Given the description of an element on the screen output the (x, y) to click on. 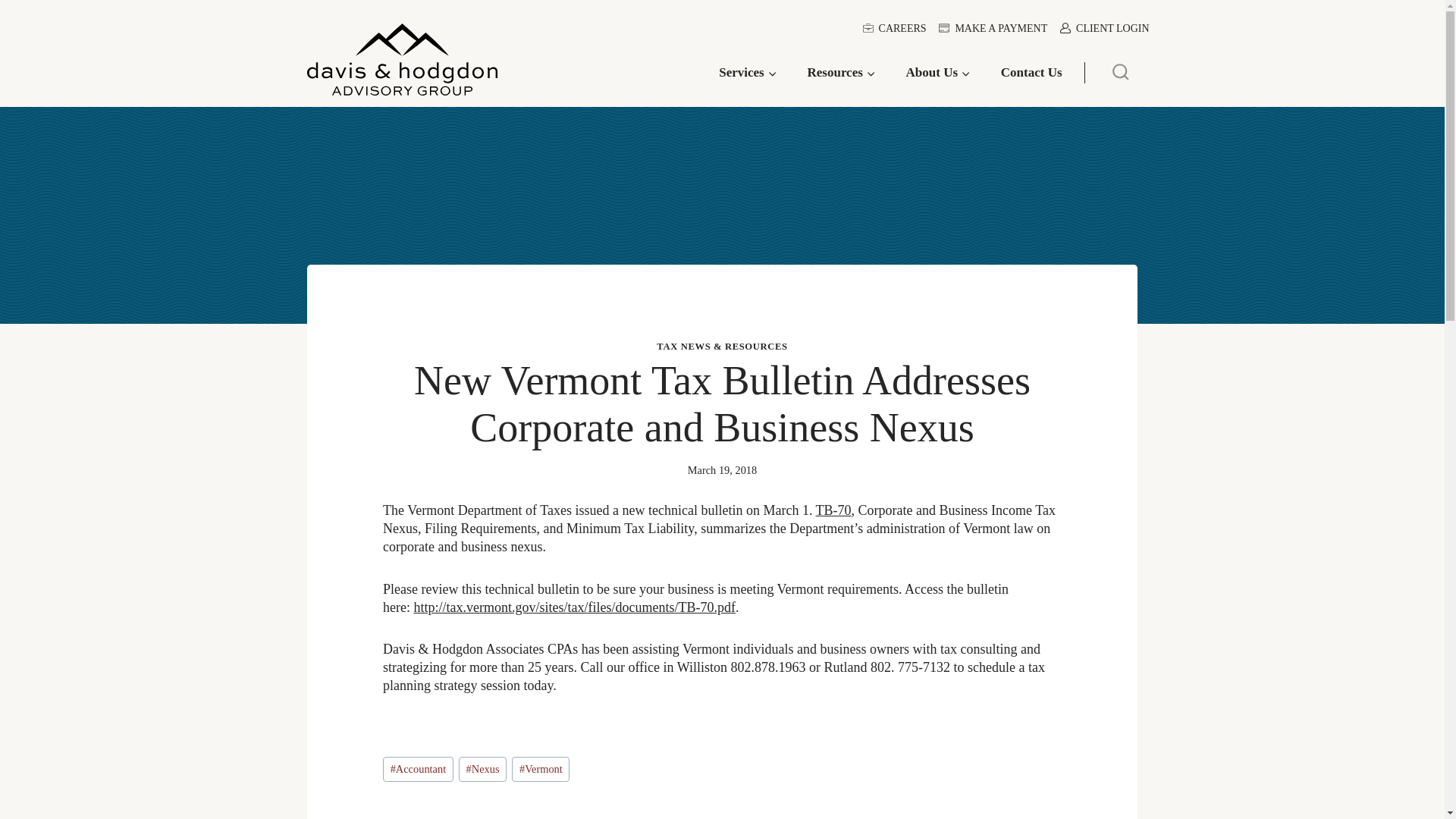
Services (747, 72)
CLIENT LOGIN (1105, 28)
MAKE A PAYMENT (993, 28)
About Us (938, 72)
Nexus (482, 769)
Resources (841, 72)
Vermont (540, 769)
Accountant (417, 769)
Contact Us (1031, 72)
CAREERS (894, 28)
